Given the description of an element on the screen output the (x, y) to click on. 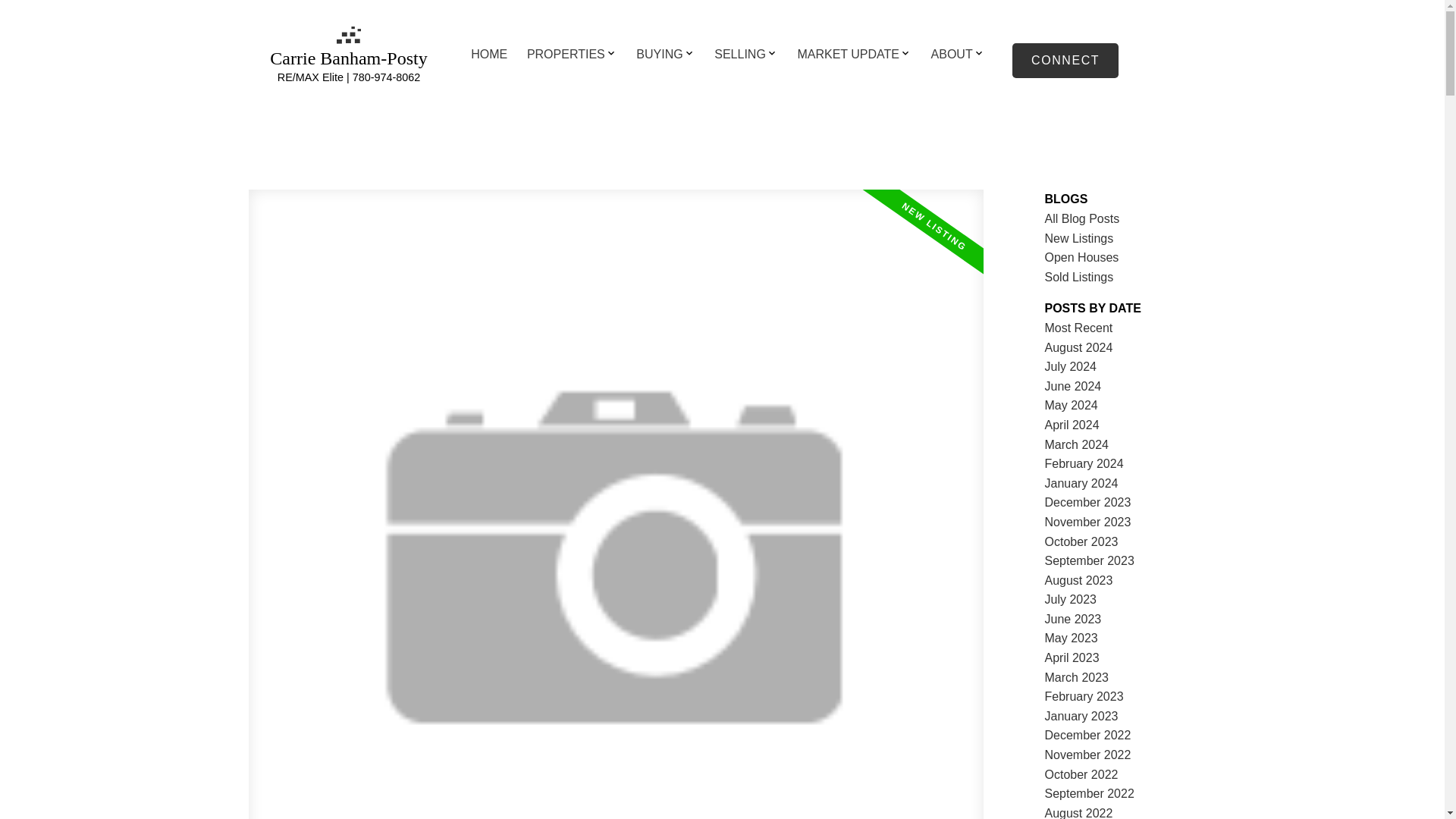
June 2024 (1073, 386)
April 2024 (1072, 424)
May 2024 (1071, 404)
Most Recent (1079, 327)
February 2024 (1084, 463)
July 2024 (1071, 366)
March 2024 (1077, 444)
November 2023 (1088, 521)
All Blog Posts (1082, 218)
New Listings (1079, 237)
